Given the description of an element on the screen output the (x, y) to click on. 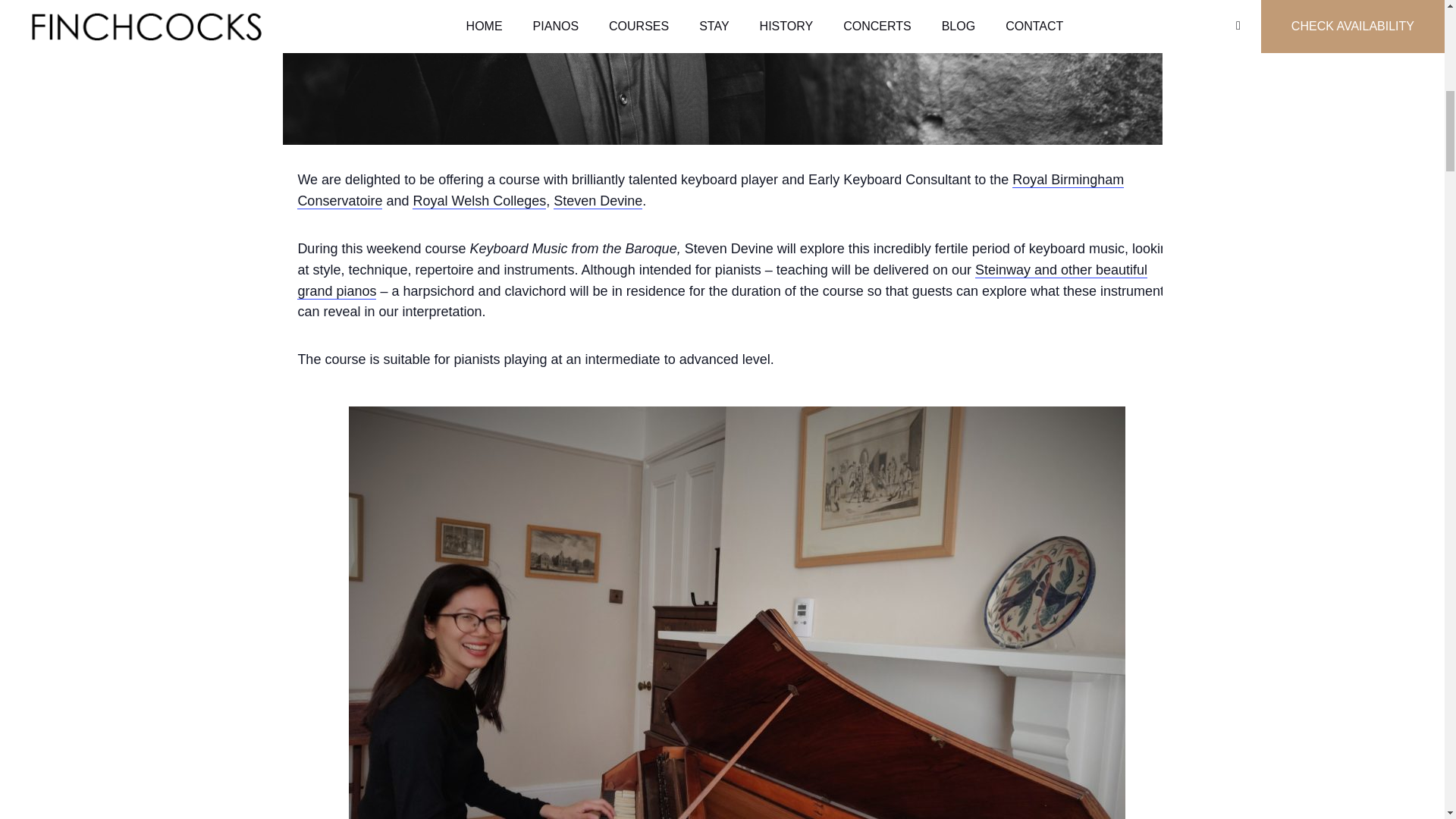
Royal Birmingham Conservatoire (710, 190)
Steinway and other beautiful grand pianos (722, 280)
Steven Devine (597, 201)
Royal Welsh Colleges (479, 201)
